Given the description of an element on the screen output the (x, y) to click on. 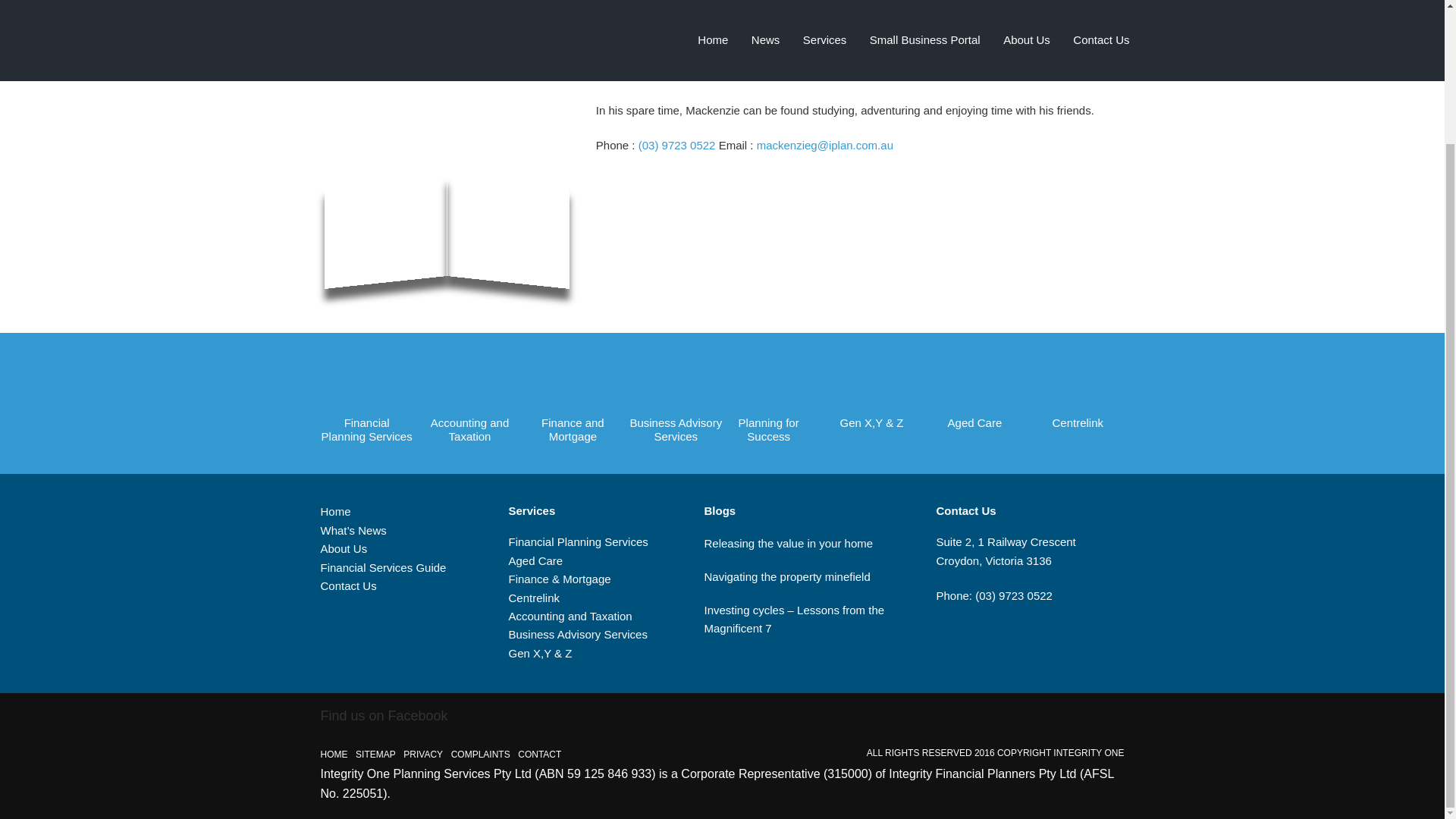
Accounting and Taxation (569, 615)
Aged Care (535, 560)
Planning for Success (767, 403)
Business Advisory Services (577, 634)
Home (335, 511)
Accounting and Taxation (469, 403)
Business Advisory Services (675, 403)
Financial Planning Services (366, 403)
Finance and Mortgage (571, 403)
Centrelink (533, 597)
